Given the description of an element on the screen output the (x, y) to click on. 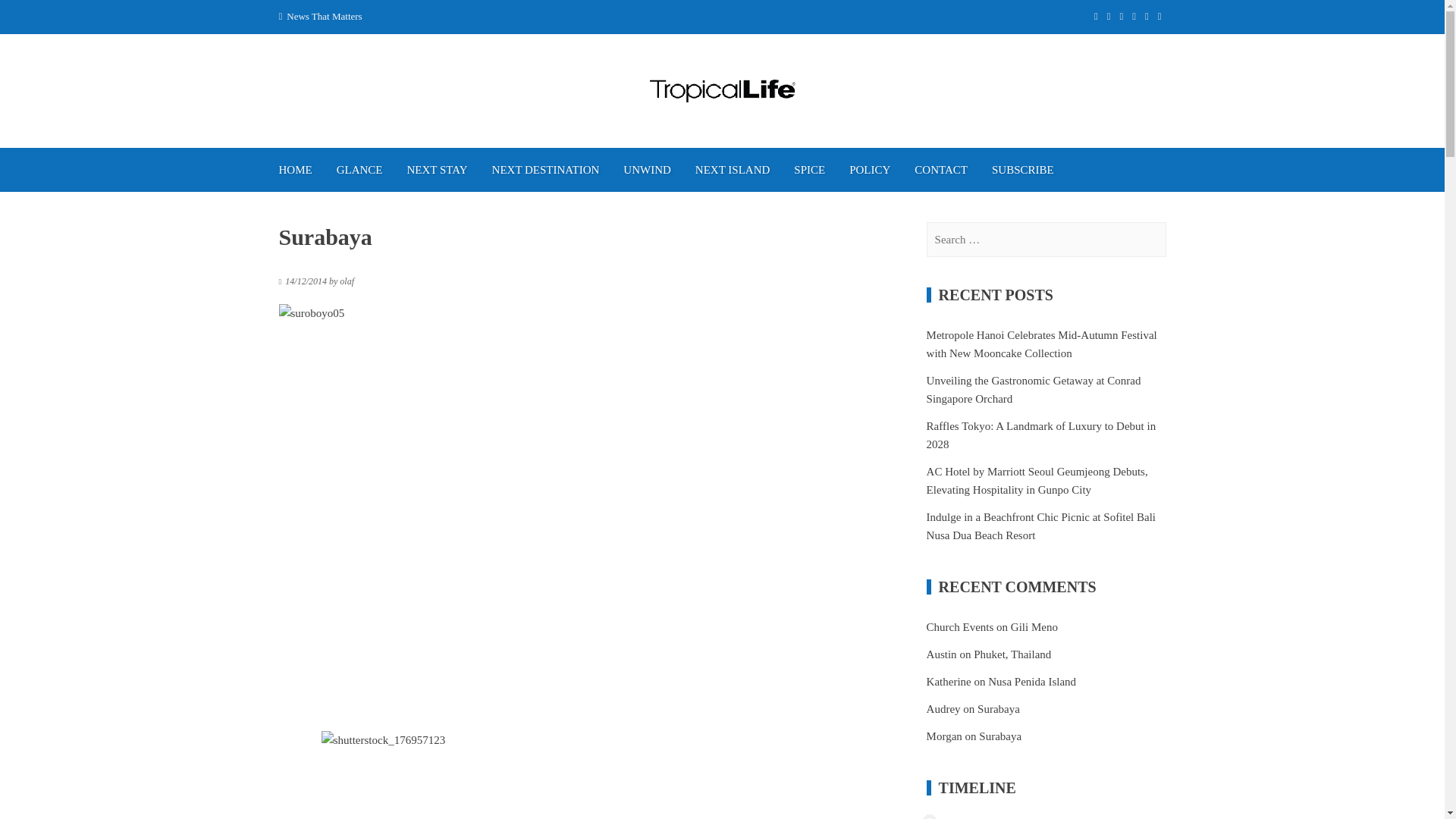
NEXT STAY (436, 169)
POLICY (869, 169)
GLANCE (359, 169)
SPICE (809, 169)
UNWIND (646, 169)
NEXT ISLAND (731, 169)
CONTACT (940, 169)
SUBSCRIBE (1022, 169)
HOME (295, 169)
NEXT DESTINATION (545, 169)
